Given the description of an element on the screen output the (x, y) to click on. 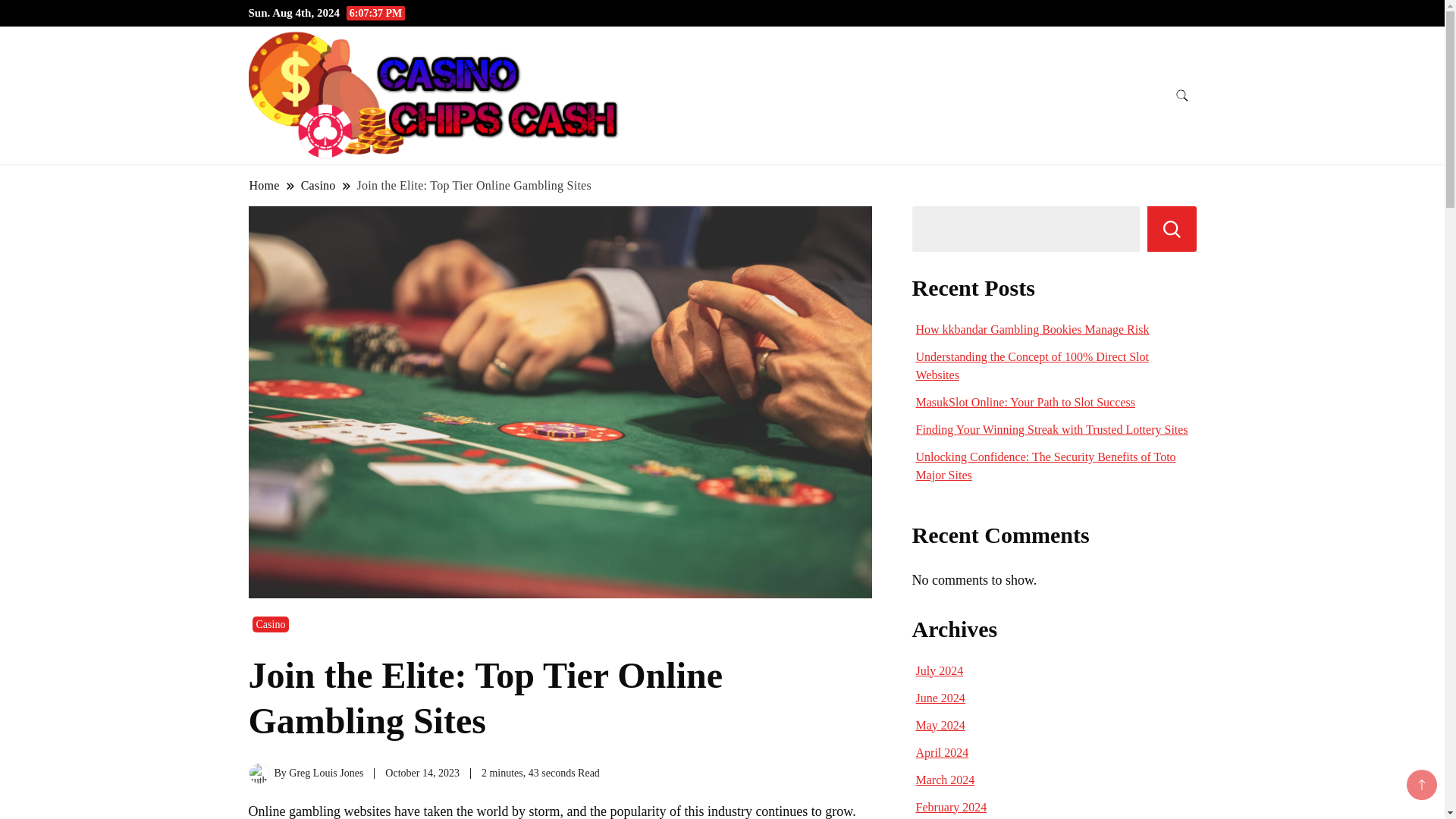
Casino (317, 185)
Finding Your Winning Streak with Trusted Lottery Sites (1051, 429)
May 2024 (940, 725)
Casino Chips Cash (702, 112)
Join the Elite: Top Tier Online Gambling Sites (474, 185)
Home (264, 185)
July 2024 (939, 670)
June 2024 (940, 697)
Search (1171, 228)
Casino (269, 624)
October 14, 2023 (422, 772)
How kkbandar Gambling Bookies Manage Risk (1032, 328)
Greg Louis Jones (325, 772)
MasukSlot Online: Your Path to Slot Success (1025, 401)
